Given the description of an element on the screen output the (x, y) to click on. 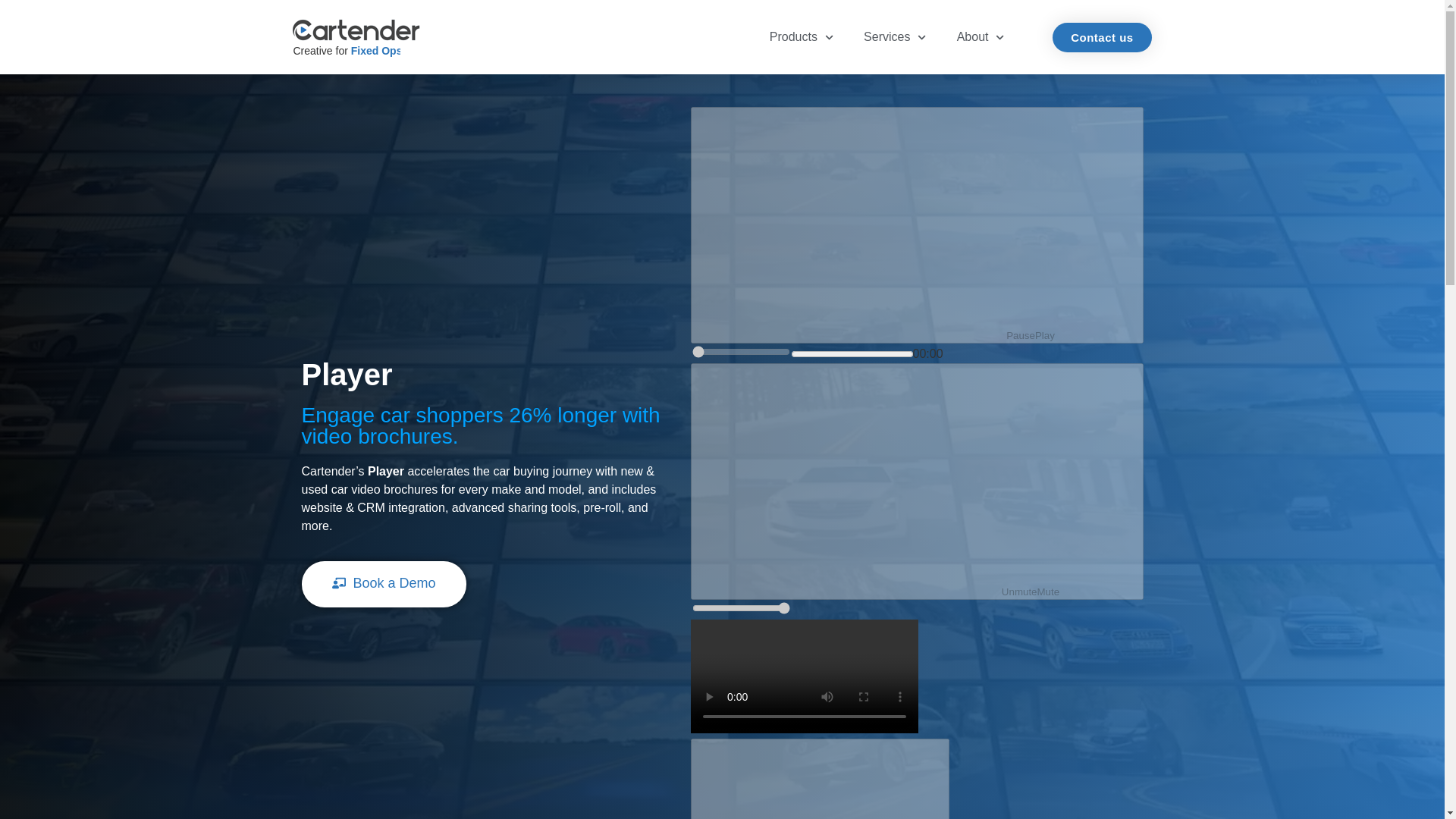
Services (894, 37)
Contact us (1101, 37)
About (980, 37)
Products (801, 37)
